Given the description of an element on the screen output the (x, y) to click on. 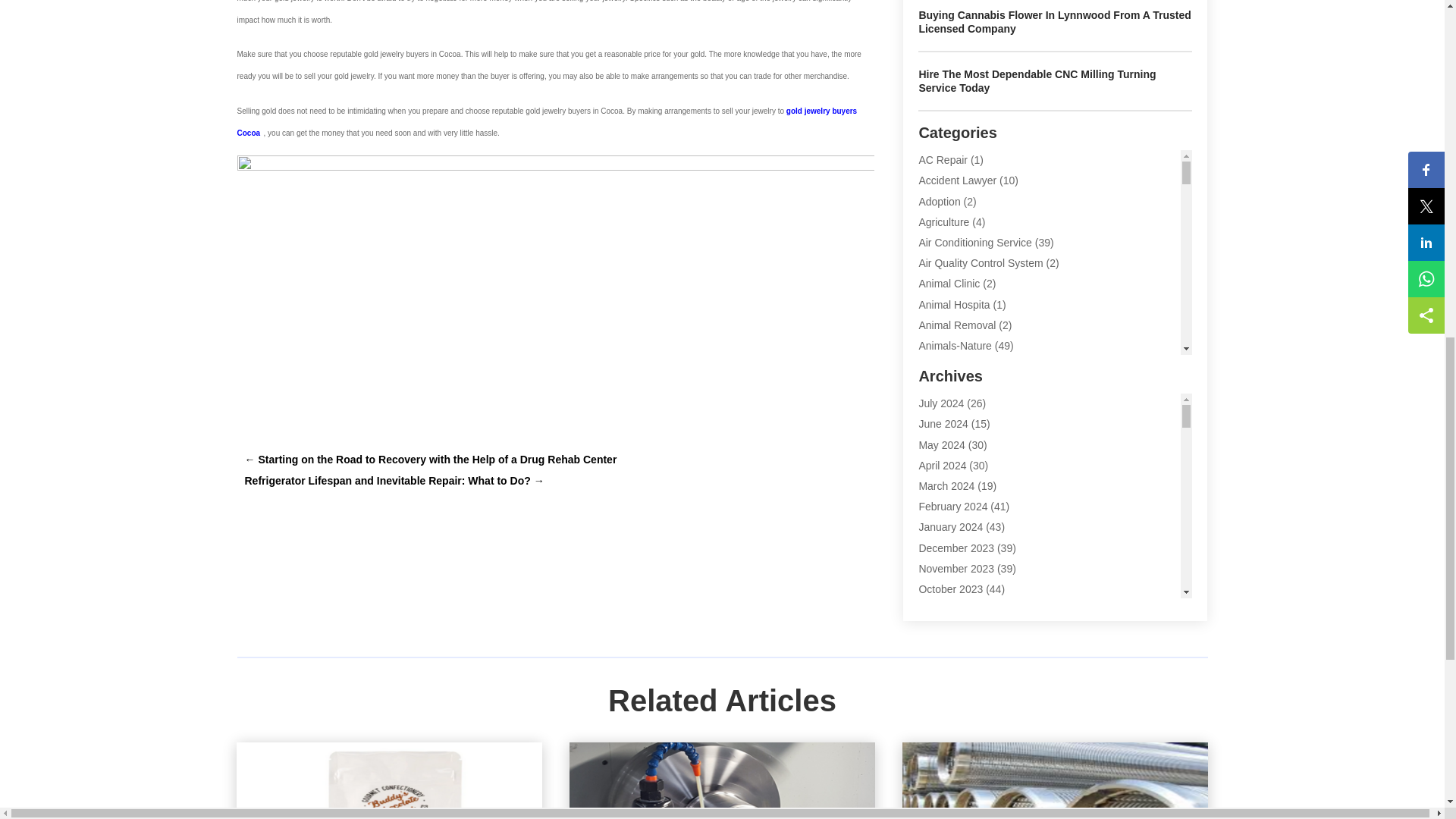
Adoption (938, 201)
Animal Clinic (948, 283)
Air Conditioning Service (974, 242)
Animal Hospita (954, 304)
Hire The Most Dependable CNC Milling Turning Service Today (1037, 80)
Air Quality Control System (980, 263)
AC Repair (943, 159)
Apartment (943, 366)
Agriculture (943, 222)
Animals-Nature (954, 345)
Accident Lawyer (956, 180)
Animal Removal (956, 325)
Apartment Building (962, 386)
